Given the description of an element on the screen output the (x, y) to click on. 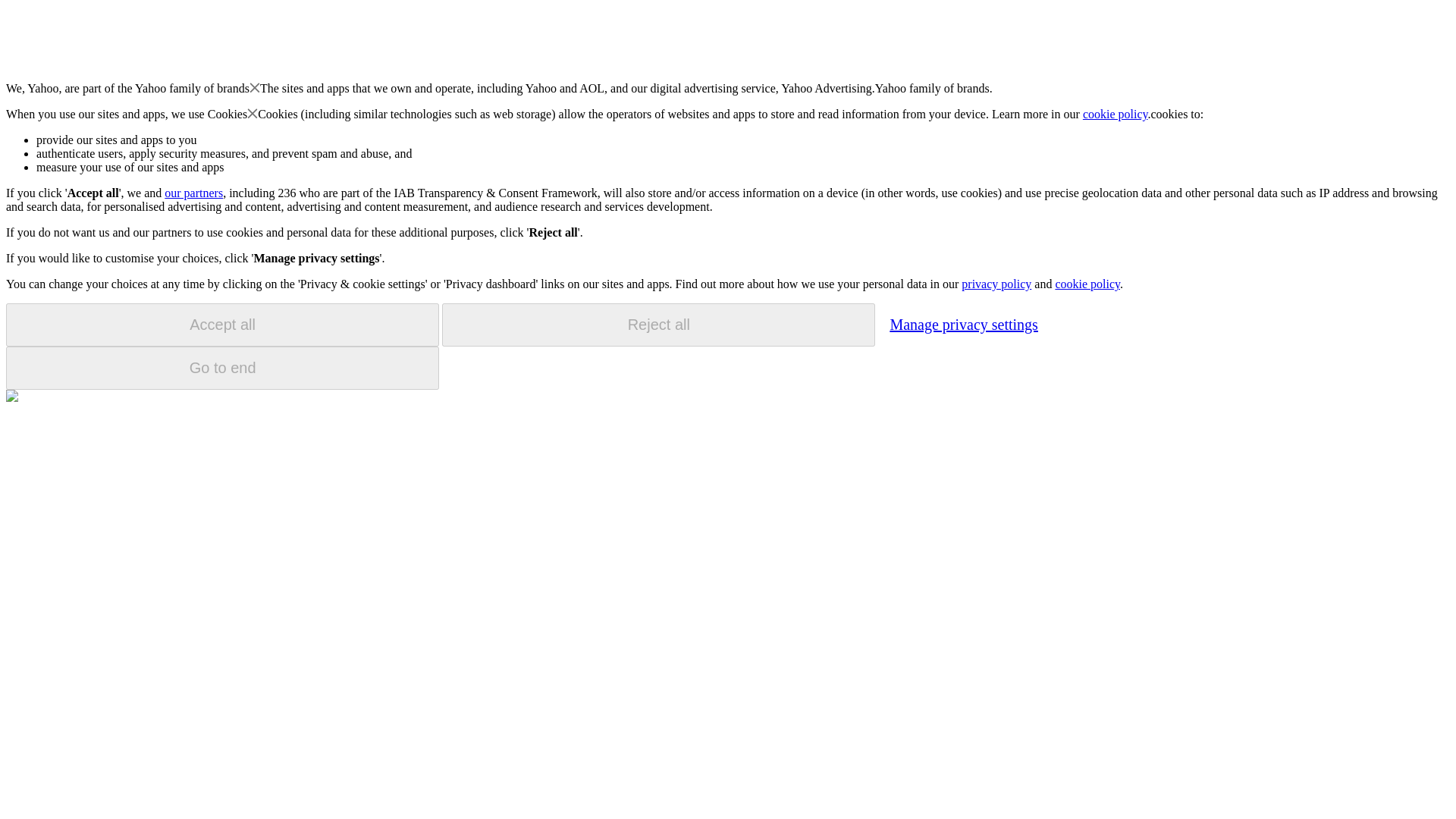
privacy policy (995, 283)
Go to end (222, 367)
Reject all (658, 324)
Accept all (222, 324)
cookie policy (1115, 113)
our partners (193, 192)
Manage privacy settings (963, 323)
cookie policy (1086, 283)
